Given the description of an element on the screen output the (x, y) to click on. 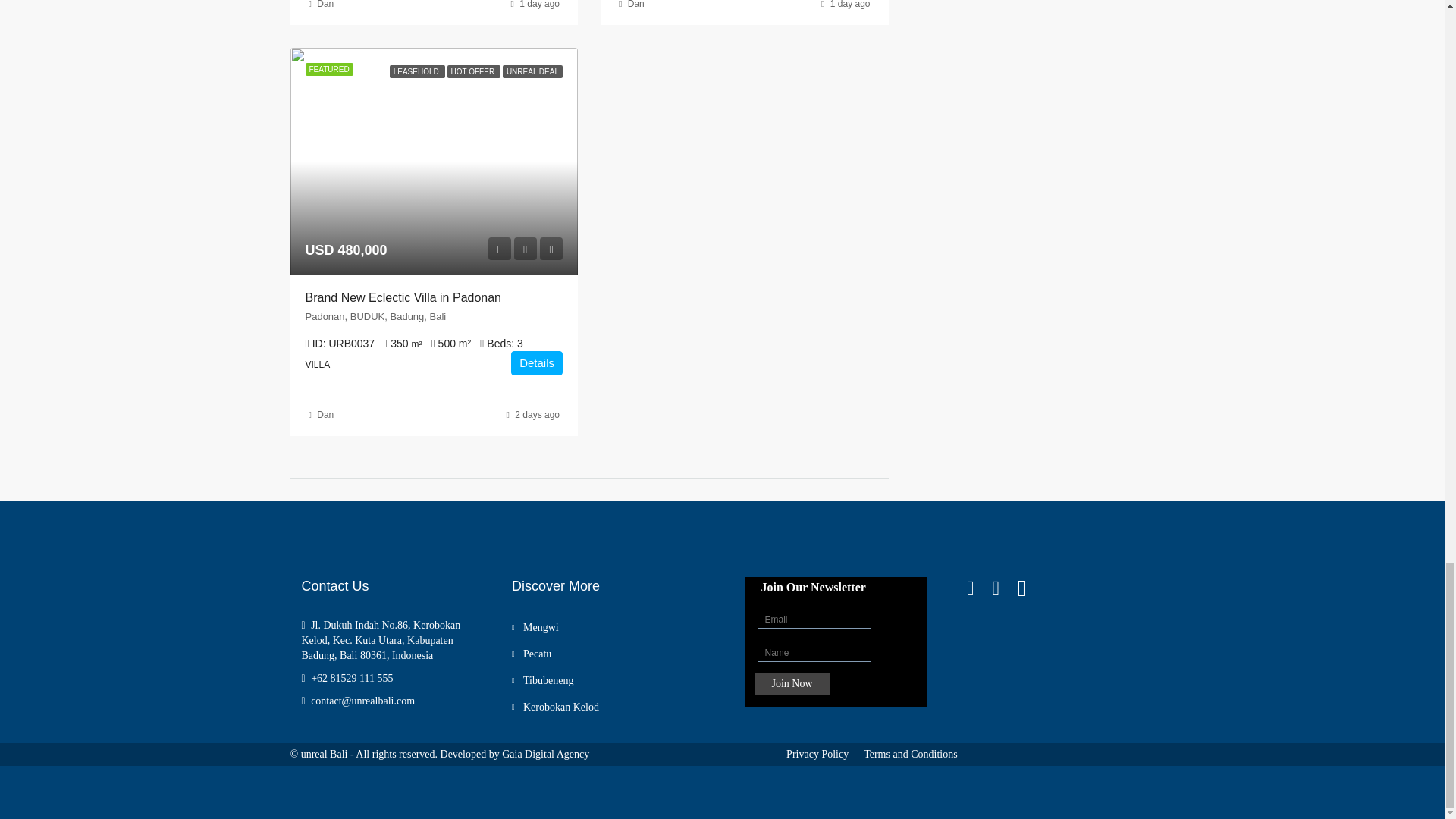
Favourite (525, 248)
Follow us on Youtube (1030, 587)
Add to Compare (551, 248)
Preview (499, 248)
Join Now (792, 683)
Follow us on Instagram (1004, 587)
Follow us on Facebook (979, 587)
